Given the description of an element on the screen output the (x, y) to click on. 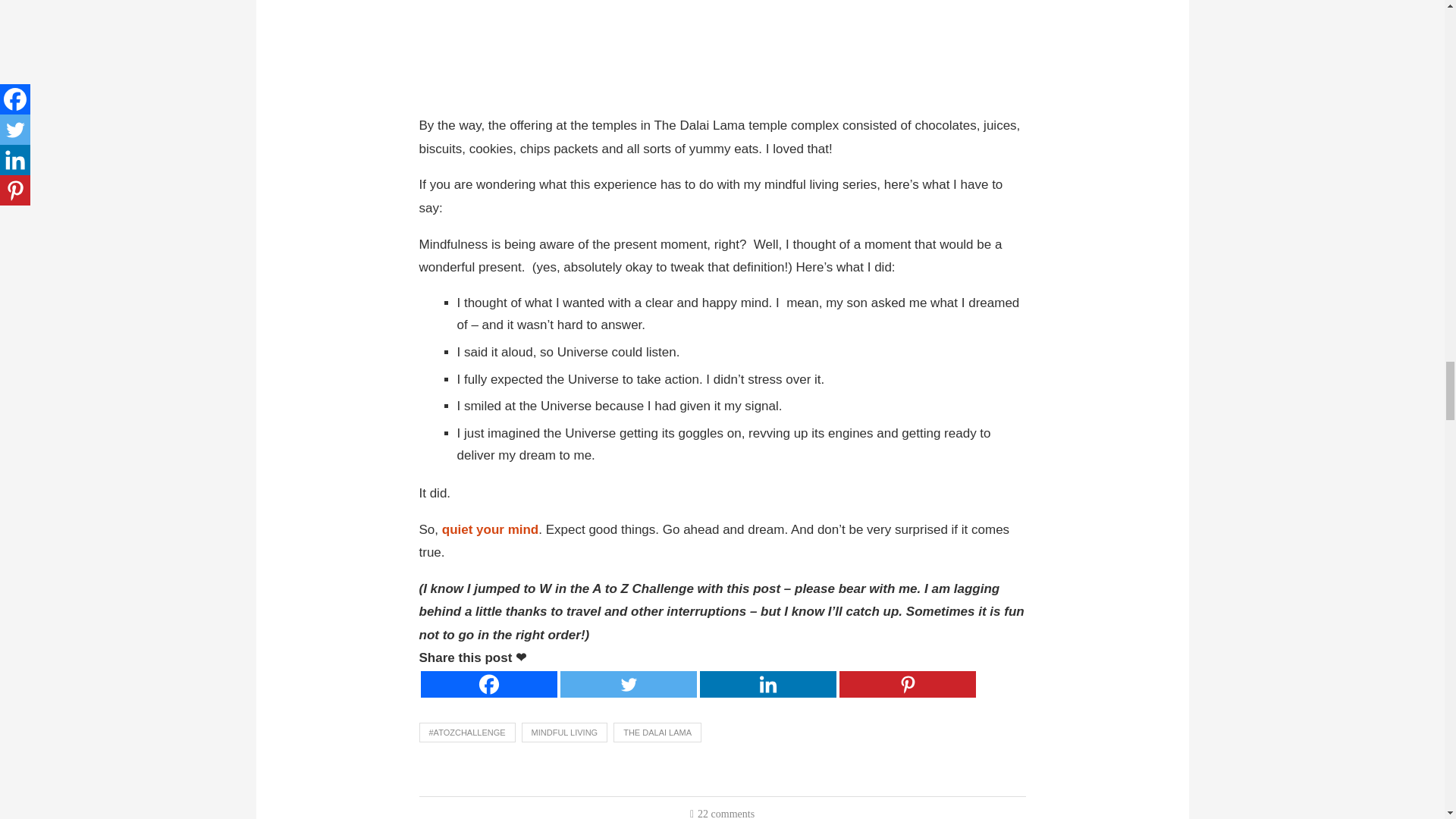
Pinterest (906, 683)
Twitter (627, 683)
Facebook (488, 683)
Linkedin (766, 683)
